Given the description of an element on the screen output the (x, y) to click on. 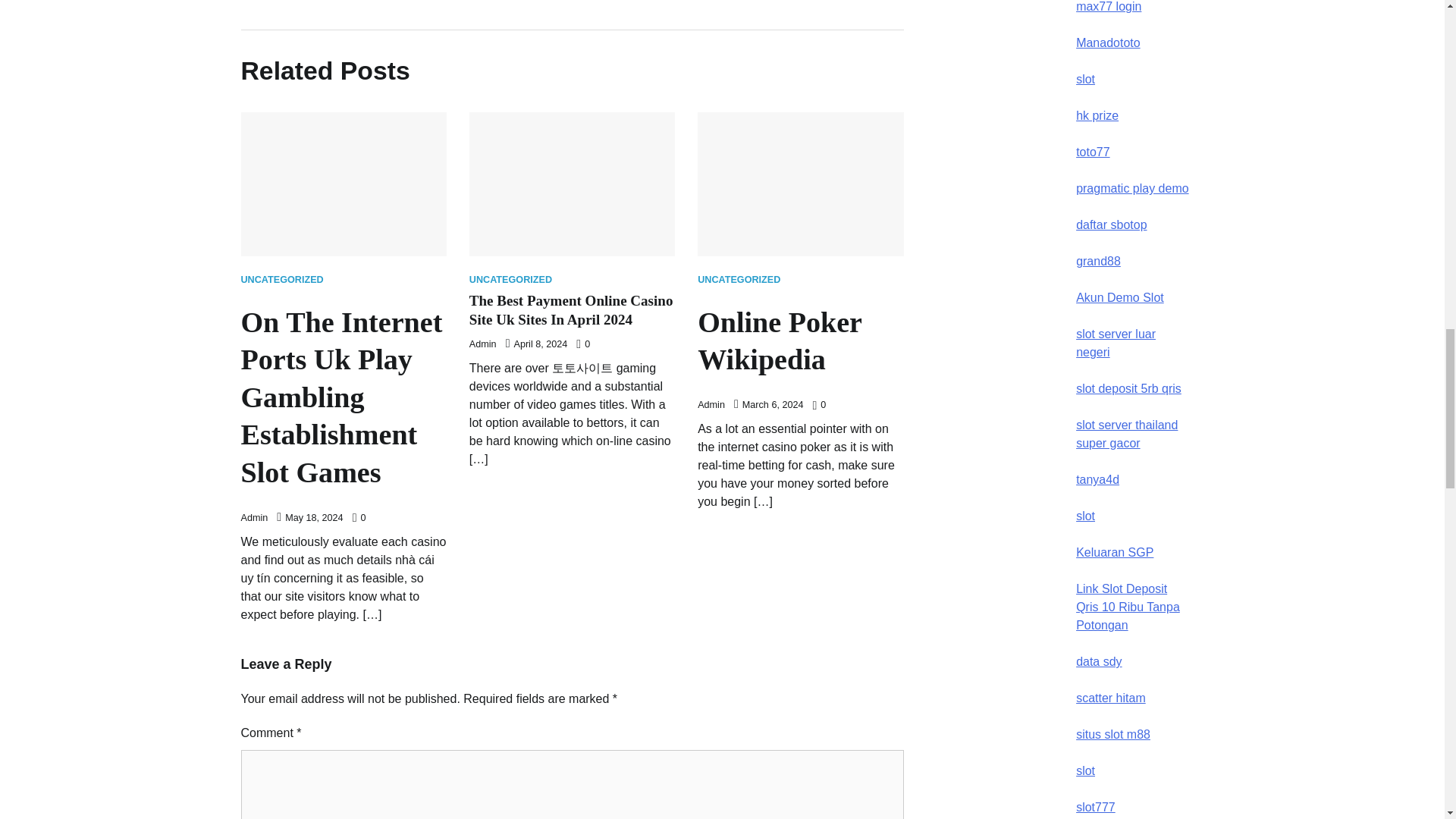
Admin (482, 344)
UNCATEGORIZED (282, 280)
Admin (711, 404)
Admin (254, 517)
UNCATEGORIZED (509, 280)
UNCATEGORIZED (738, 280)
Online Poker Wikipedia (799, 341)
The Best Payment Online Casino Site Uk Sites In April 2024 (570, 309)
